Given the description of an element on the screen output the (x, y) to click on. 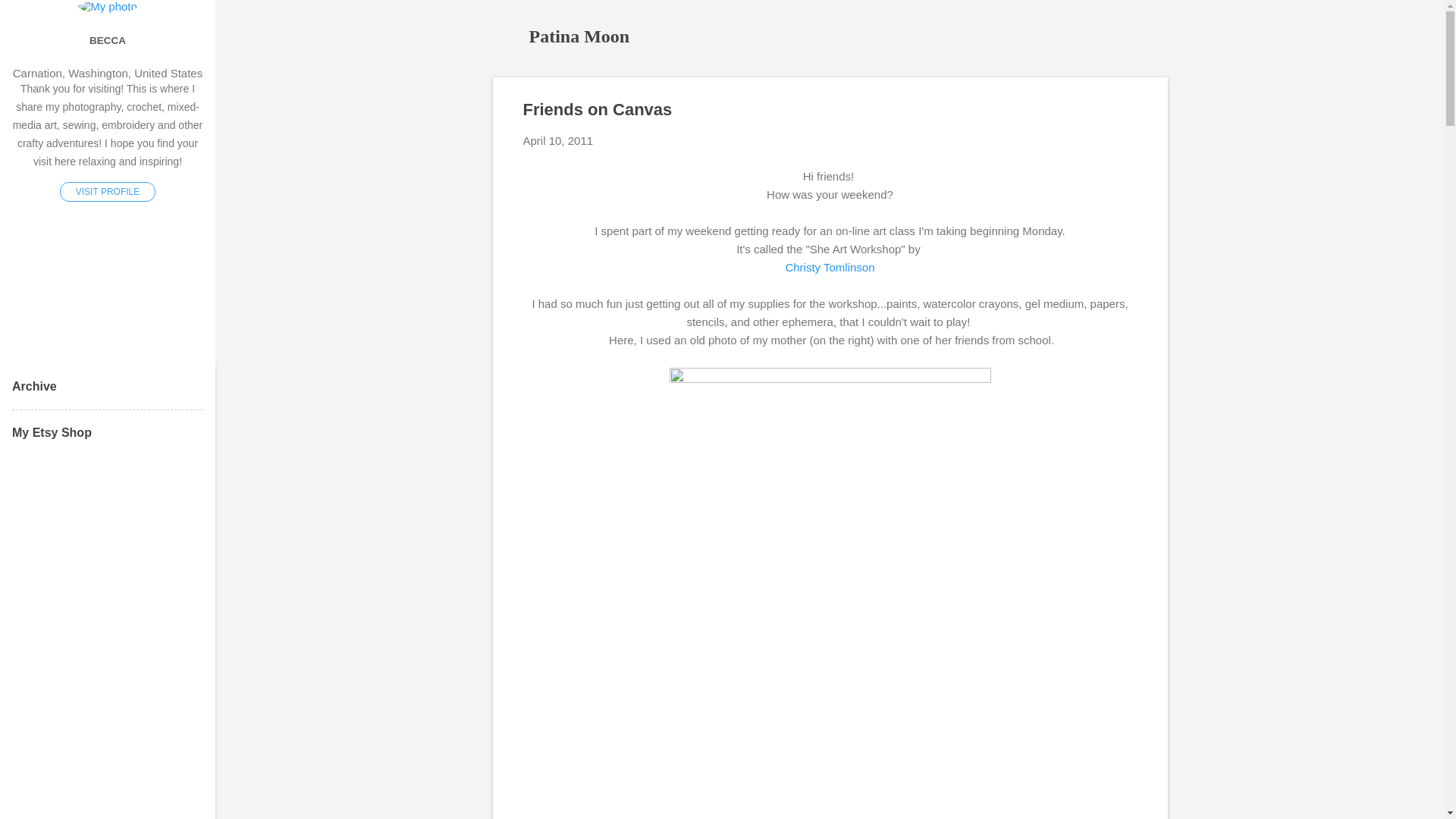
permanent link (558, 140)
April 10, 2011 (558, 140)
Christy Tomlinson (829, 267)
Patina Moon (579, 35)
